Given the description of an element on the screen output the (x, y) to click on. 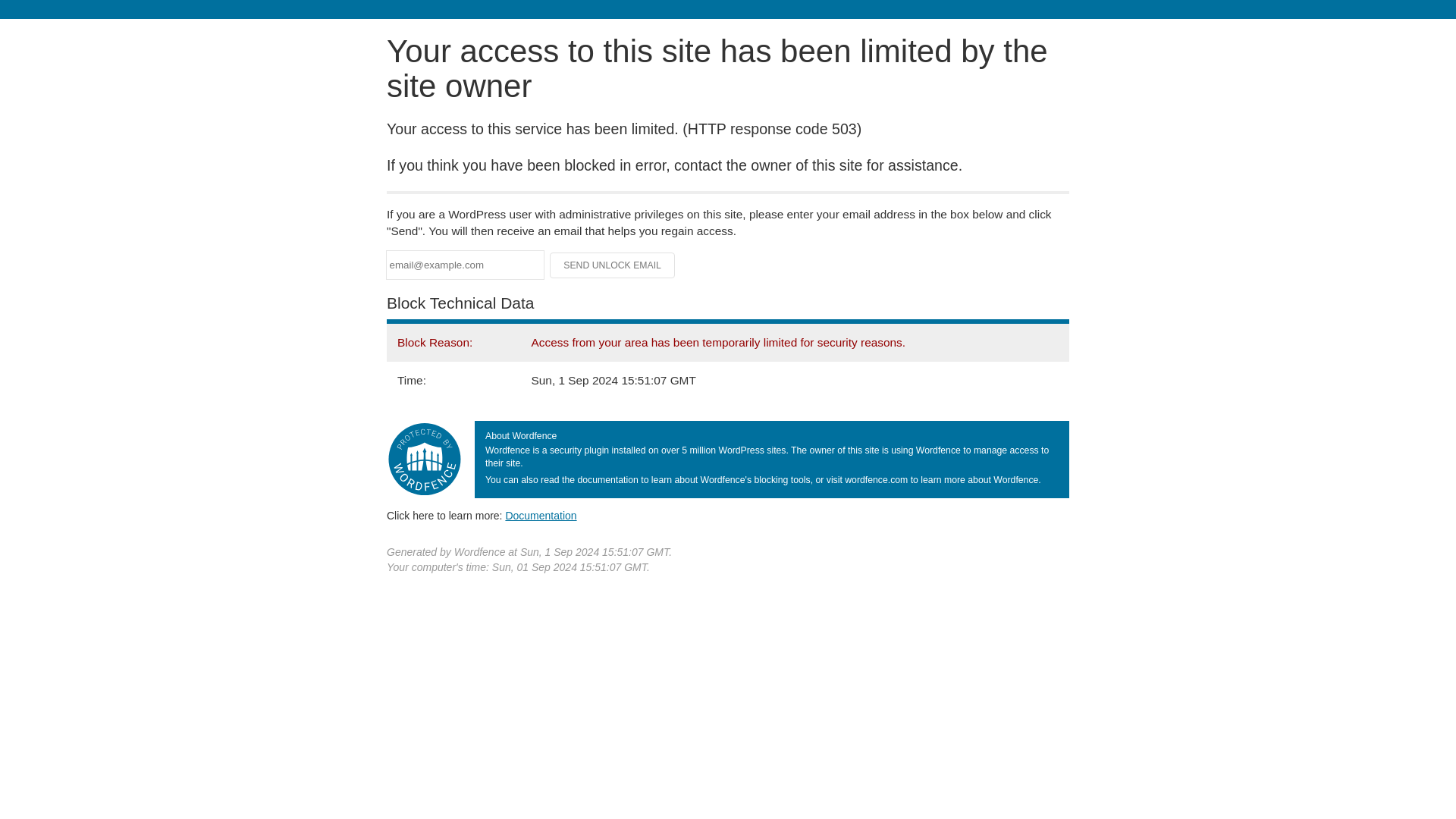
Documentation (540, 515)
Send Unlock Email (612, 265)
Send Unlock Email (612, 265)
